Given the description of an element on the screen output the (x, y) to click on. 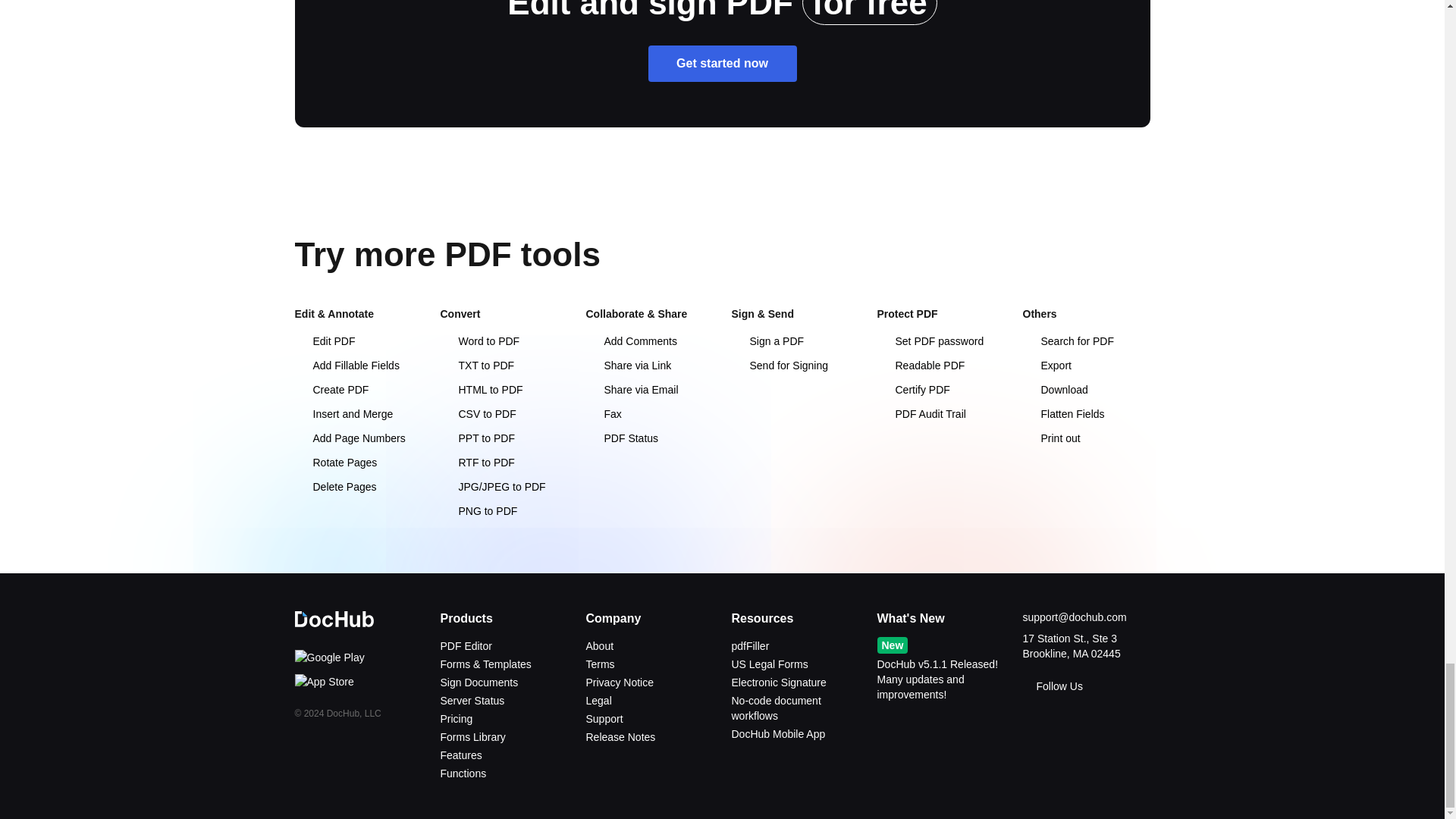
RTF to PDF (476, 462)
PNG to PDF (477, 510)
Insert and Merge (343, 413)
HTML to PDF (480, 389)
Add Fillable Fields (346, 365)
Share via Email (631, 389)
TXT to PDF (476, 365)
Add Comments (631, 340)
Create PDF (331, 389)
PPT to PDF (476, 438)
